Given the description of an element on the screen output the (x, y) to click on. 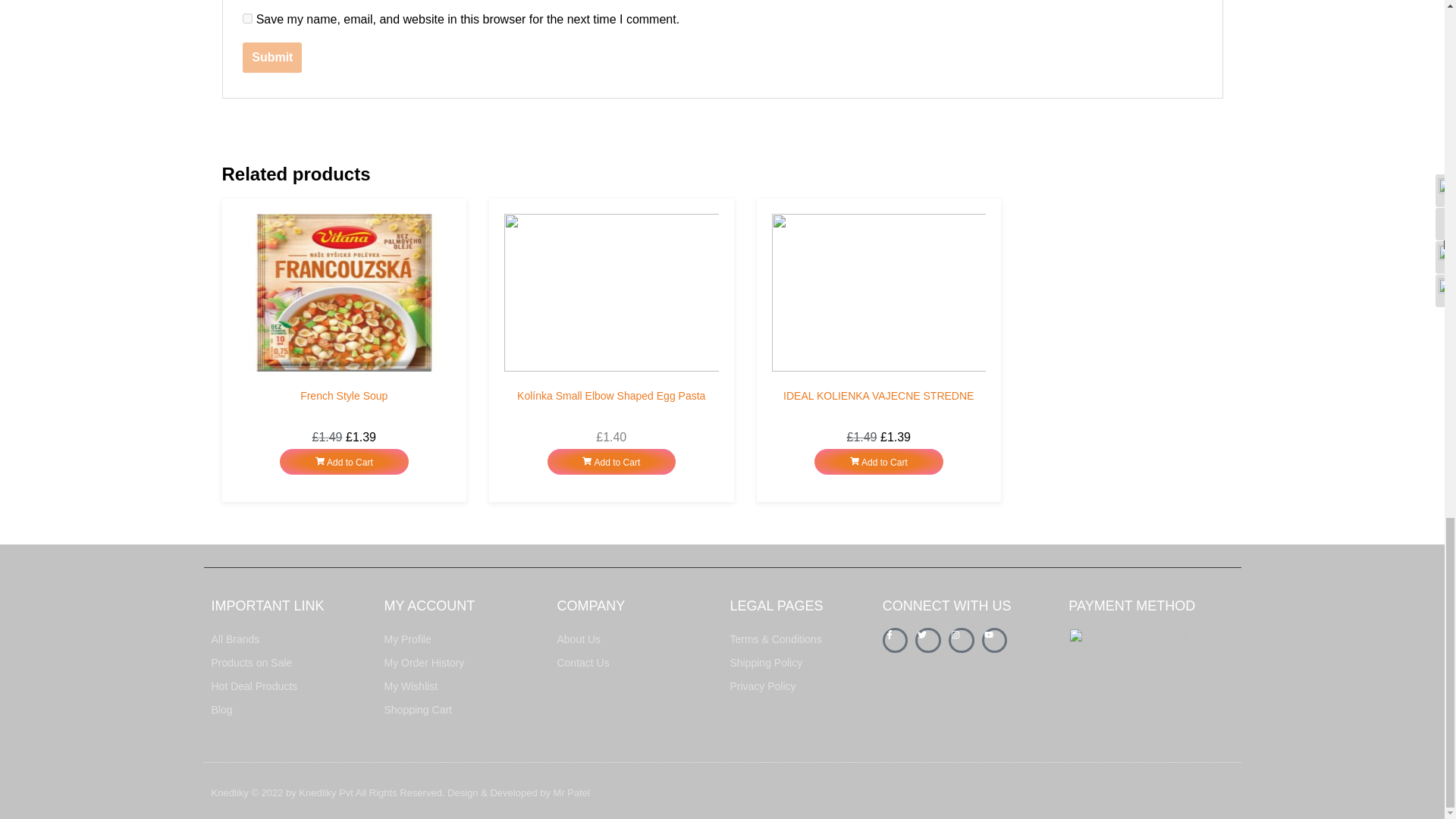
Submit (272, 57)
yes (247, 18)
